Given the description of an element on the screen output the (x, y) to click on. 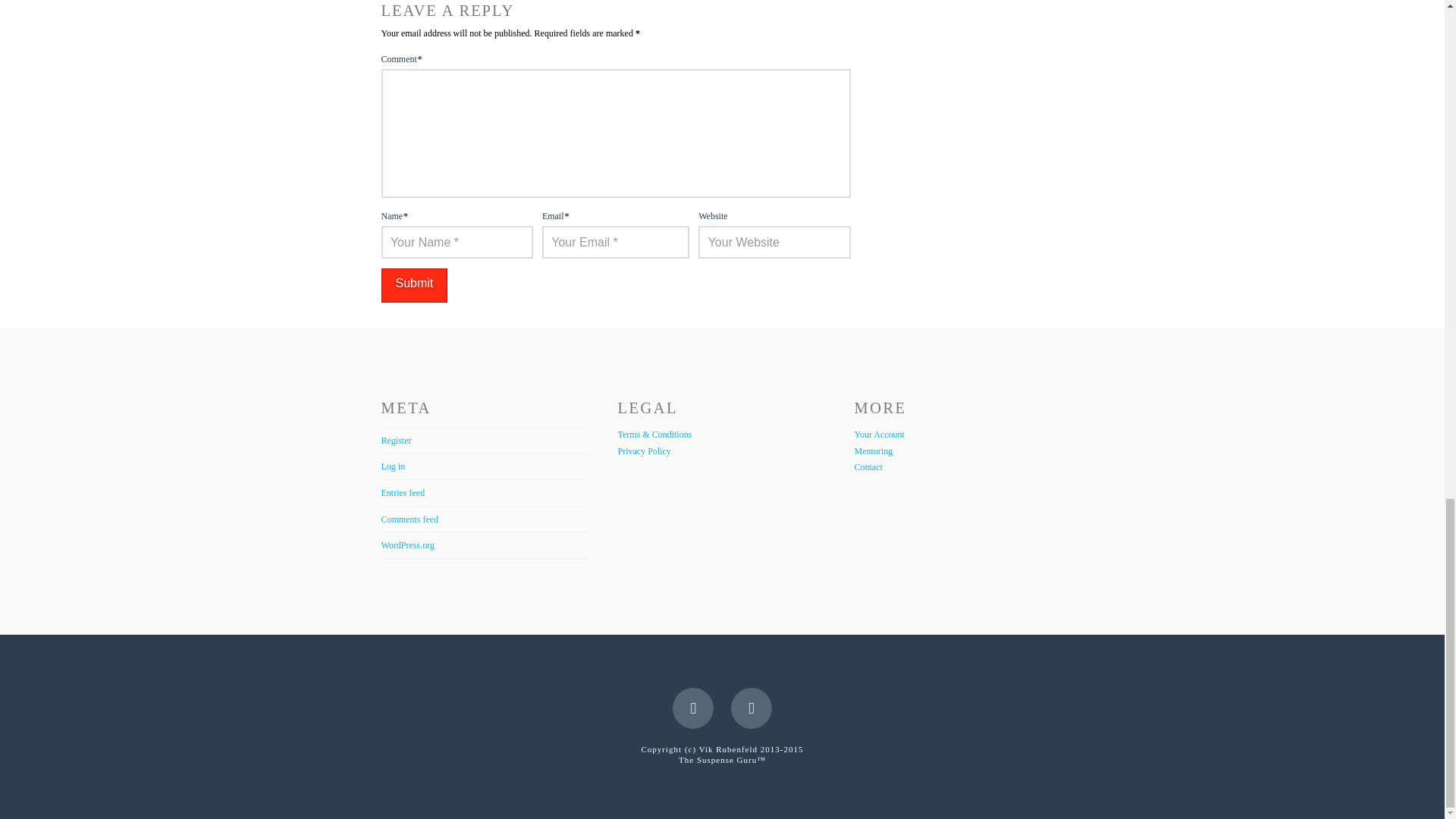
Twitter (750, 707)
Submit (413, 285)
Facebook (692, 707)
